Given the description of an element on the screen output the (x, y) to click on. 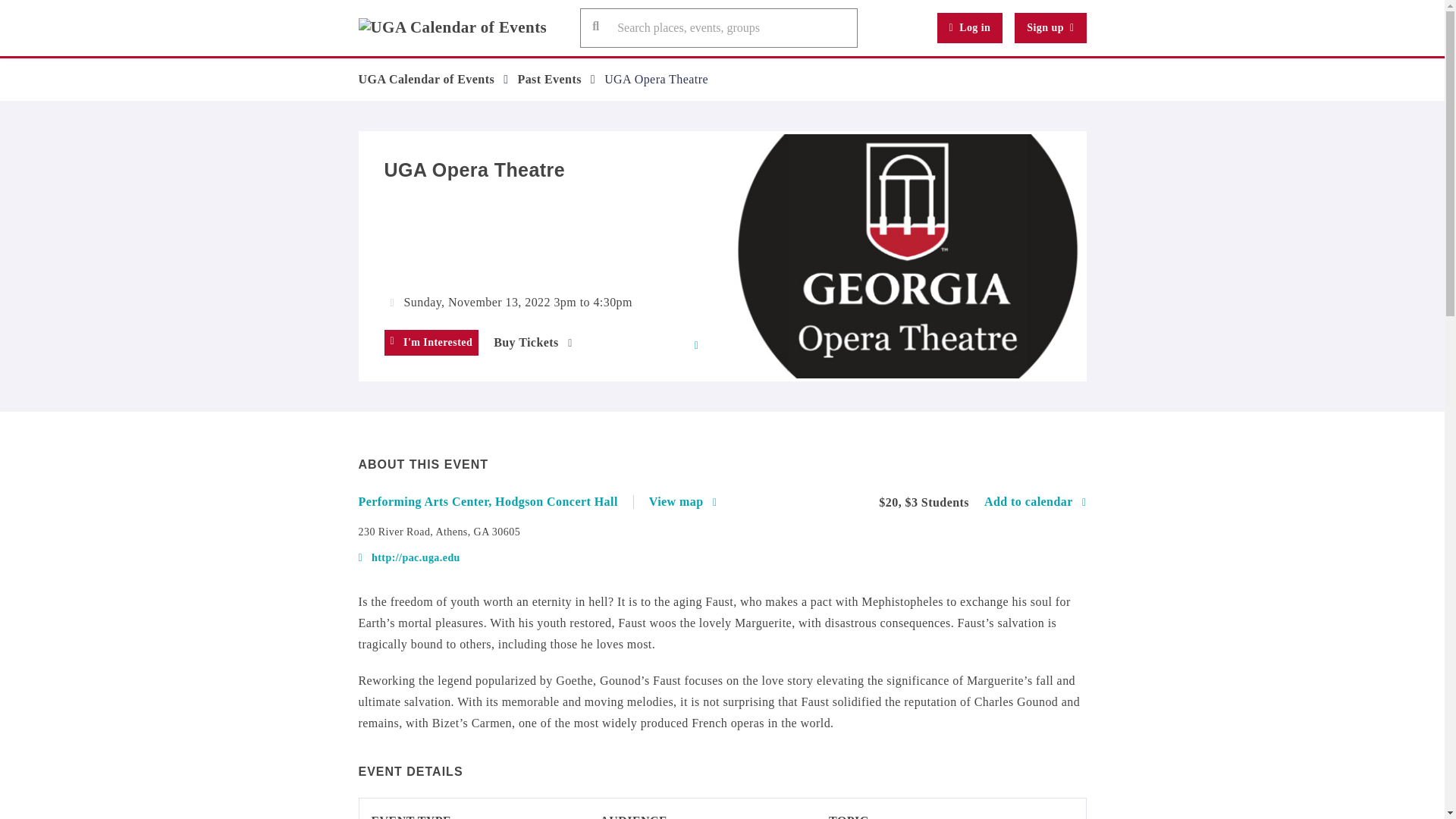
Add to calendar (1035, 502)
UGA Calendar of Events (426, 78)
Buy Tickets (532, 342)
View map (683, 502)
Log in (970, 28)
Sign up (1050, 28)
Performing Arts Center, Hodgson Concert Hall (495, 501)
Past Events (548, 78)
I'm Interested (431, 342)
